Given the description of an element on the screen output the (x, y) to click on. 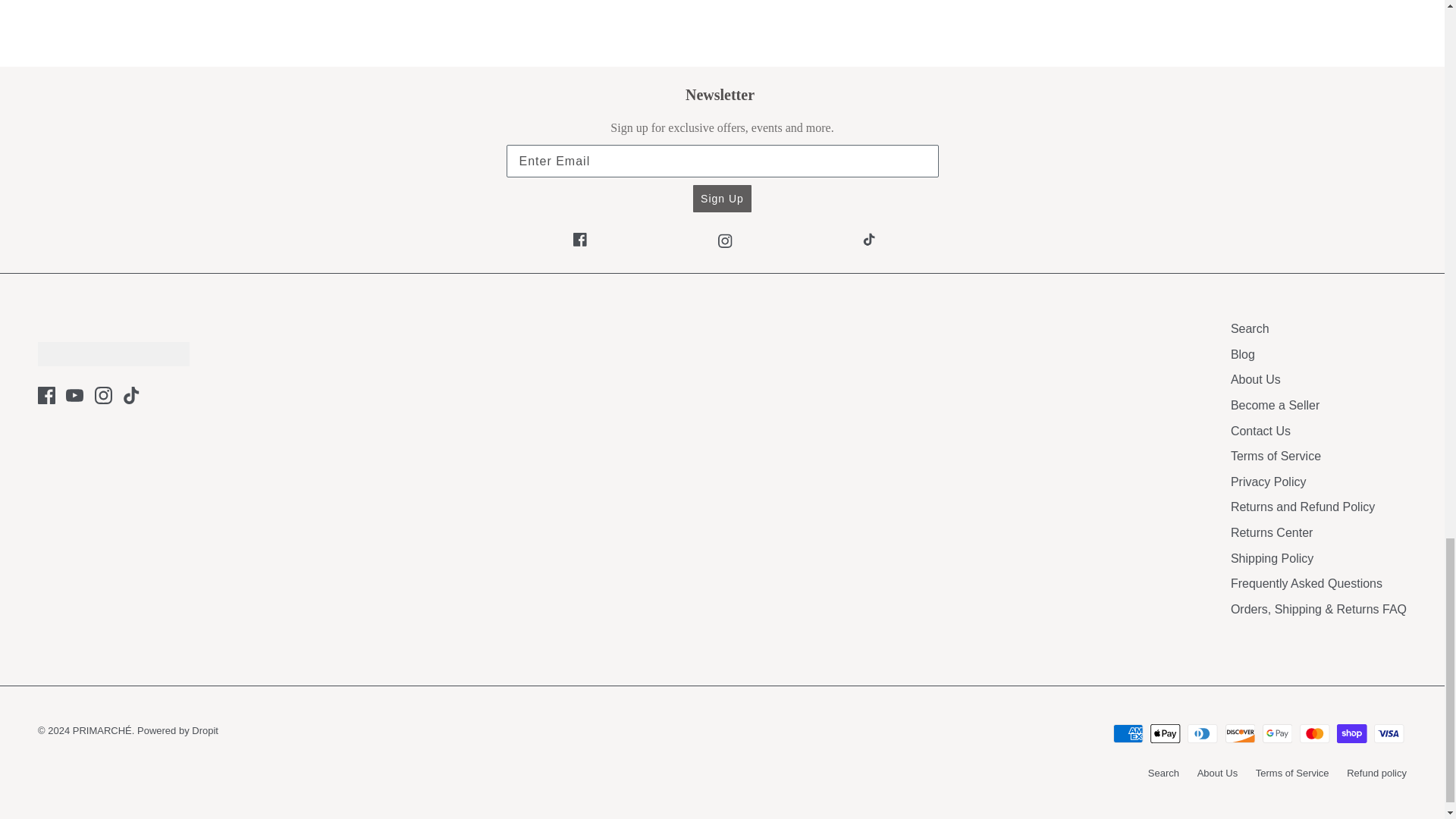
Instagram (103, 395)
Mastercard (1314, 732)
Apple Pay (1165, 732)
Facebook (46, 395)
Diners Club (1202, 732)
Visa (1388, 732)
Discover (1240, 732)
Youtube (73, 395)
Google Pay (1277, 732)
American Express (1127, 732)
Shop Pay (1351, 732)
